Given the description of an element on the screen output the (x, y) to click on. 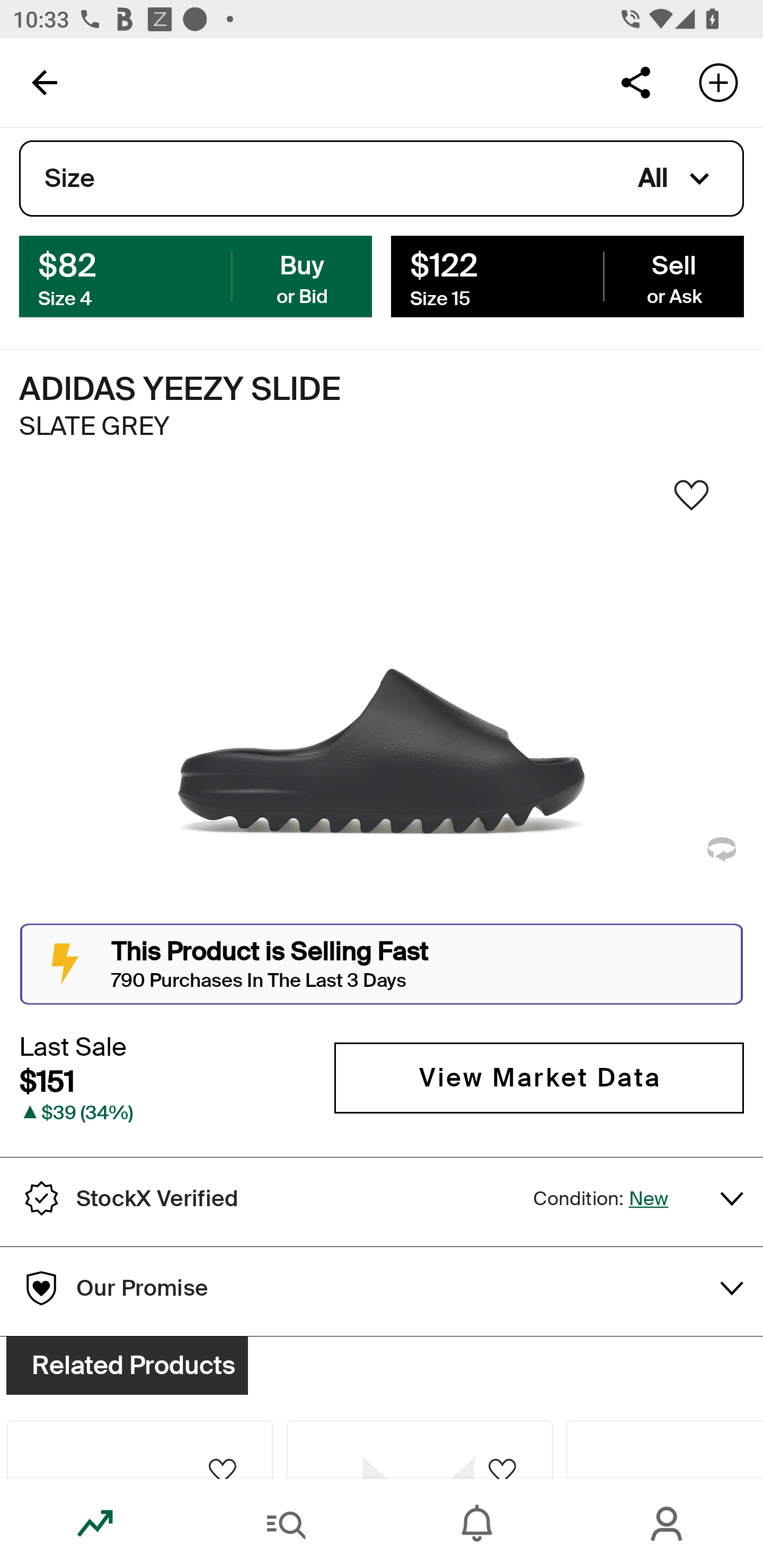
Share (635, 81)
Add (718, 81)
Size All (381, 178)
$82 Buy Size 4 or Bid (195, 275)
$122 Sell Size 15 or Ask (566, 275)
Sneaker Image (381, 699)
View Market Data (538, 1077)
Search (285, 1523)
Inbox (476, 1523)
Account (667, 1523)
